Given the description of an element on the screen output the (x, y) to click on. 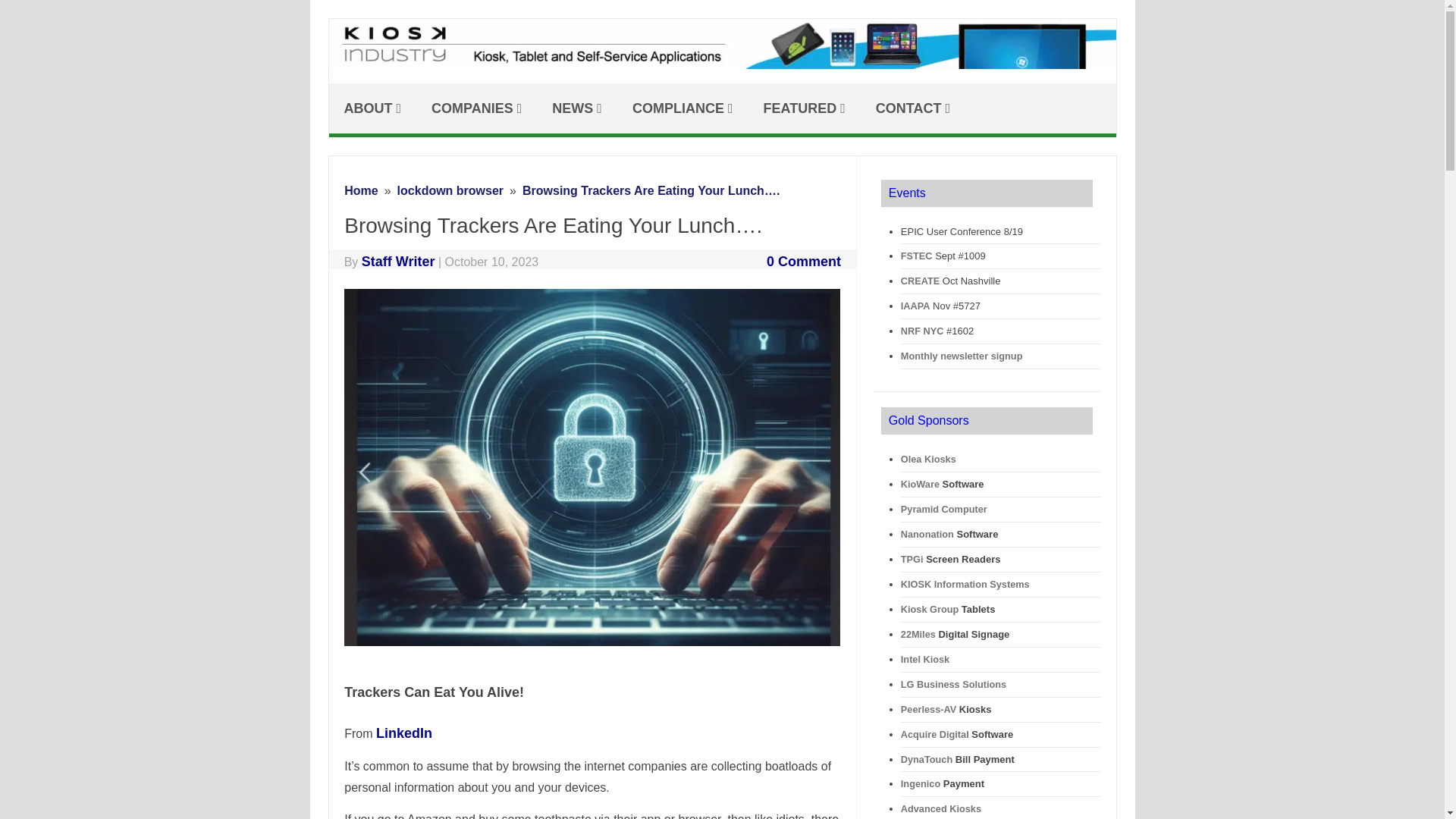
COMPANIES (476, 108)
Posts by Staff Writer (398, 261)
ABOUT (372, 108)
NEWS (577, 108)
Self Service Kiosk Machine (730, 64)
